Given the description of an element on the screen output the (x, y) to click on. 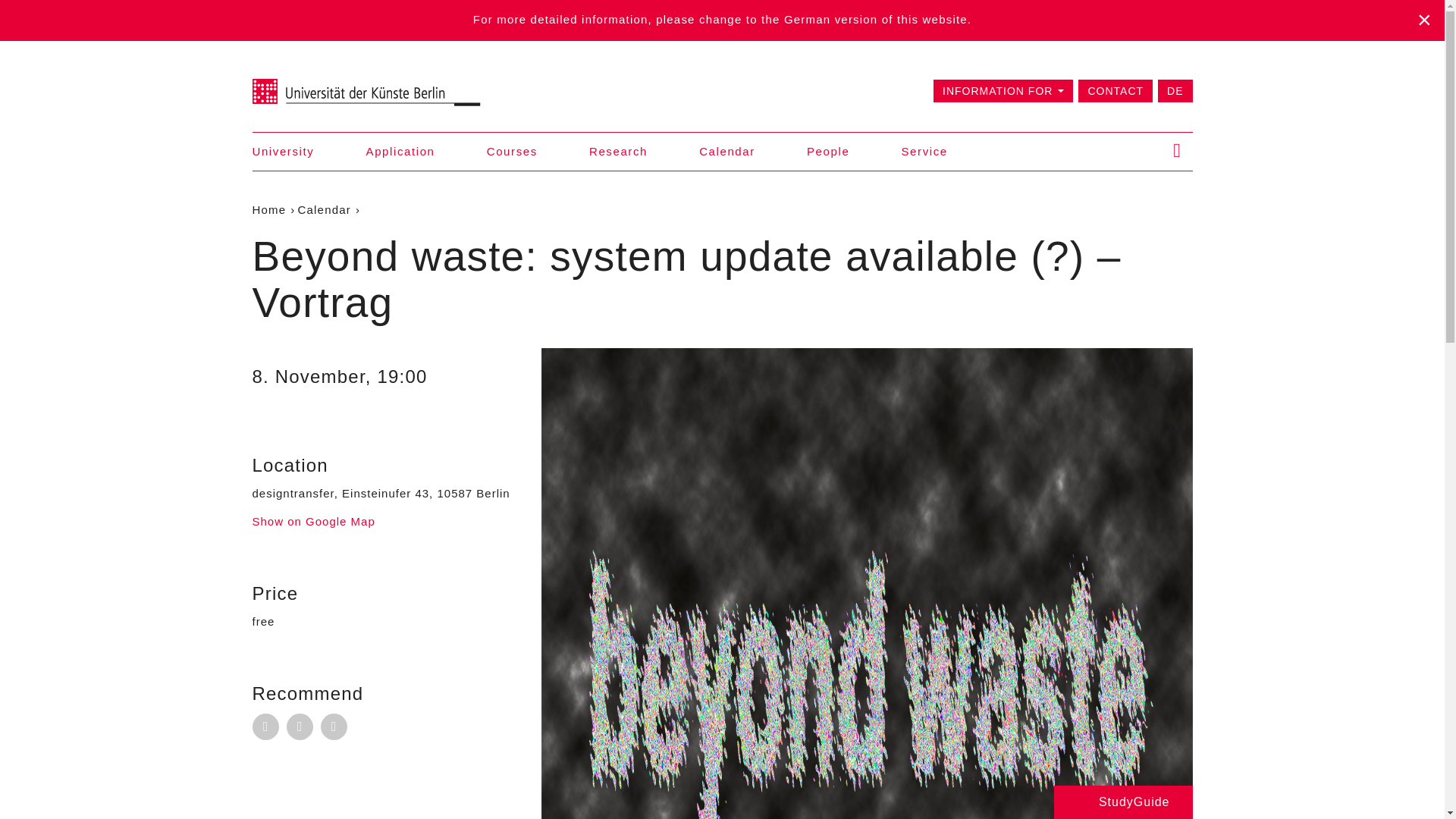
Recommend via Mail (264, 726)
CONTACT (1115, 89)
University (282, 150)
Calendar (324, 209)
Courses (511, 150)
Recommend via Facebook (299, 726)
Show on Google Map (312, 521)
People (827, 150)
Home (268, 209)
DE (1174, 89)
Calendar (726, 150)
Research (618, 150)
StudyGuide (1123, 802)
Service (924, 150)
